Given the description of an element on the screen output the (x, y) to click on. 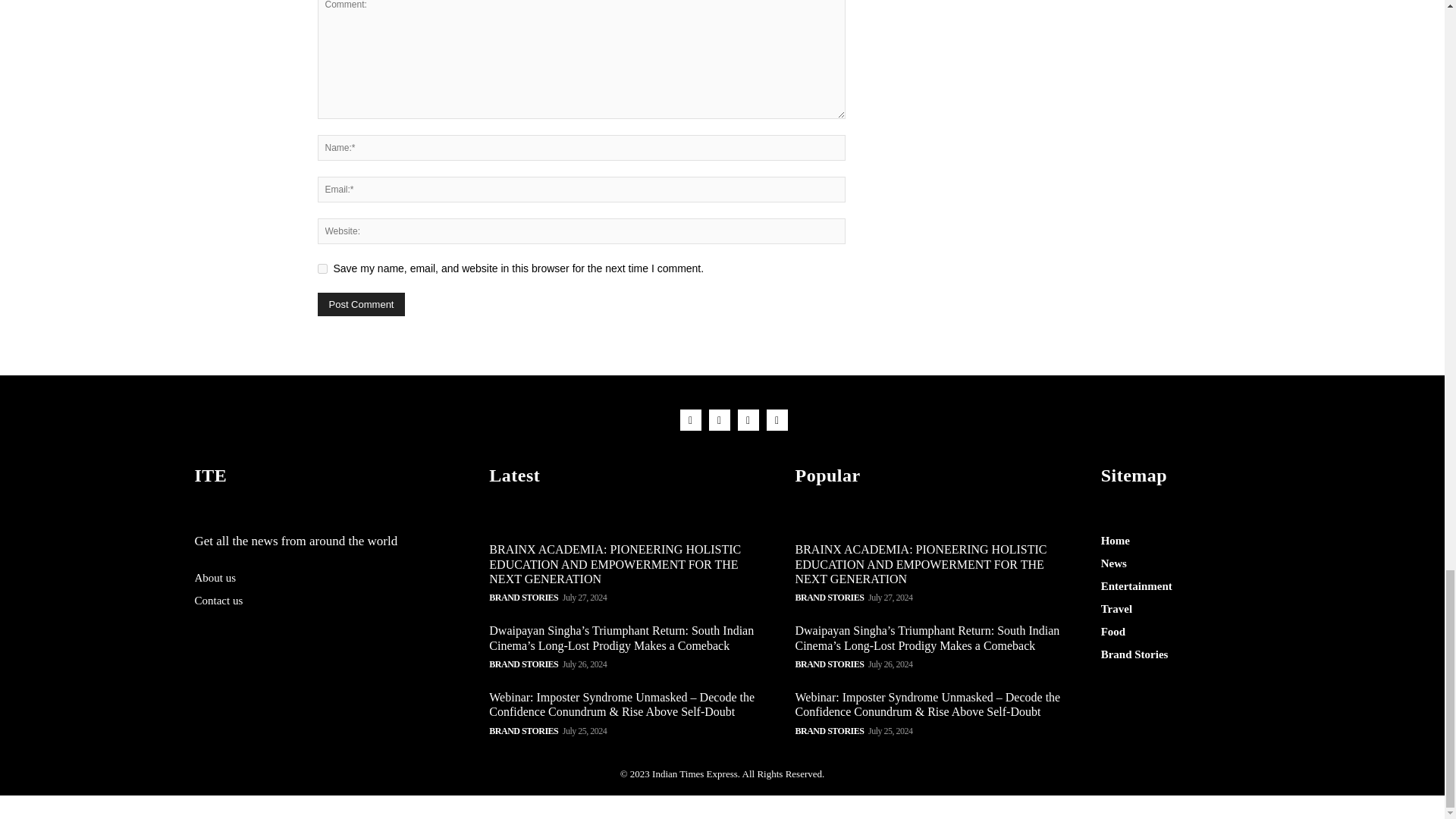
yes (321, 268)
Post Comment (360, 304)
